Given the description of an element on the screen output the (x, y) to click on. 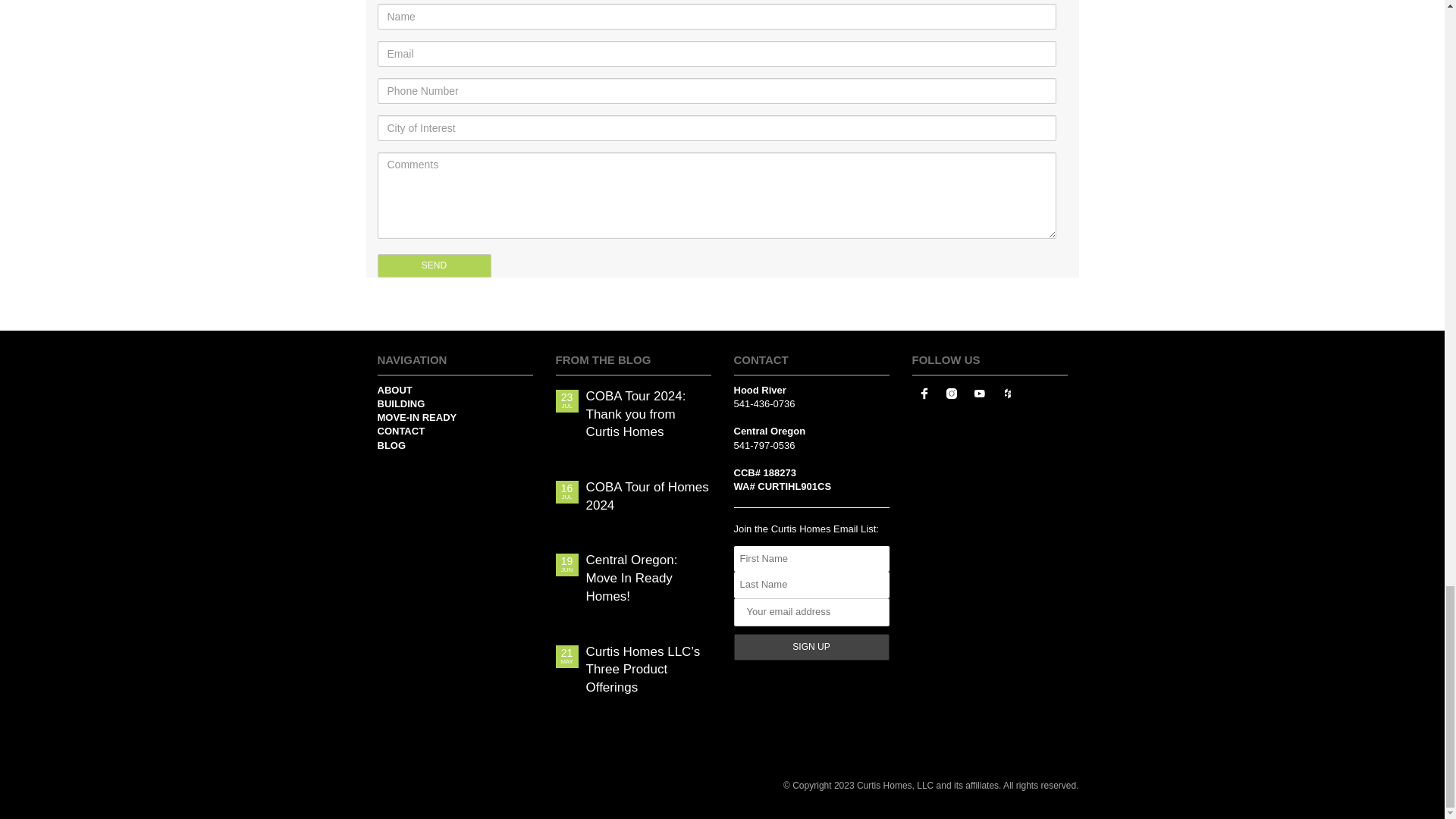
COBA Tour 2024: Thank you from Curtis Homes (647, 414)
Sign up (811, 646)
Central Oregon: Move In Ready Homes! (647, 578)
COBA Tour of Homes 2024 (647, 496)
Send (434, 265)
